Given the description of an element on the screen output the (x, y) to click on. 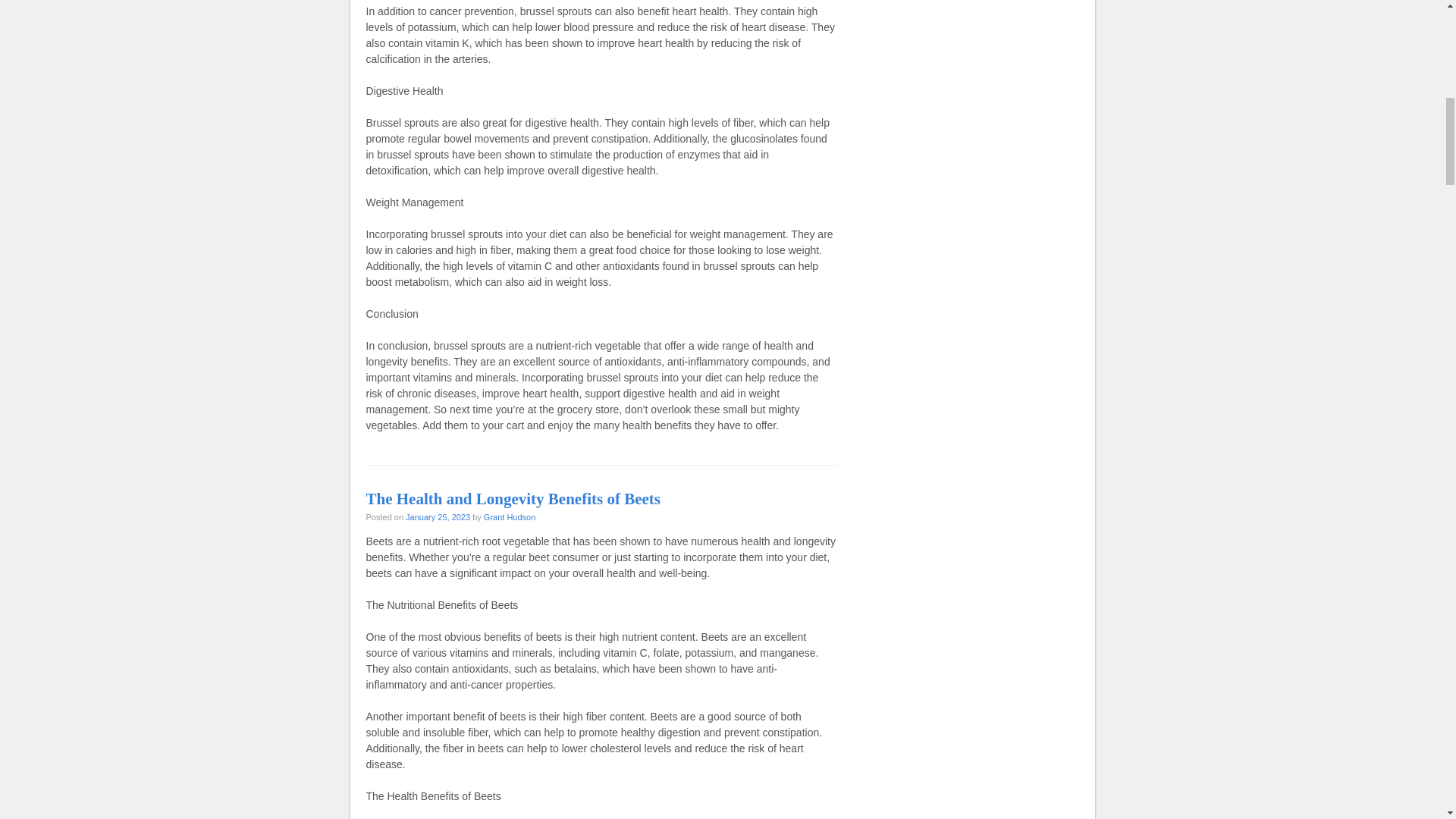
Grant Hudson (509, 516)
View all posts by Grant Hudson (509, 516)
The Health and Longevity Benefits of Beets (513, 498)
January 25, 2023 (438, 516)
3:04 am (438, 516)
Permalink to The Health and Longevity Benefits of Beets (513, 498)
